Given the description of an element on the screen output the (x, y) to click on. 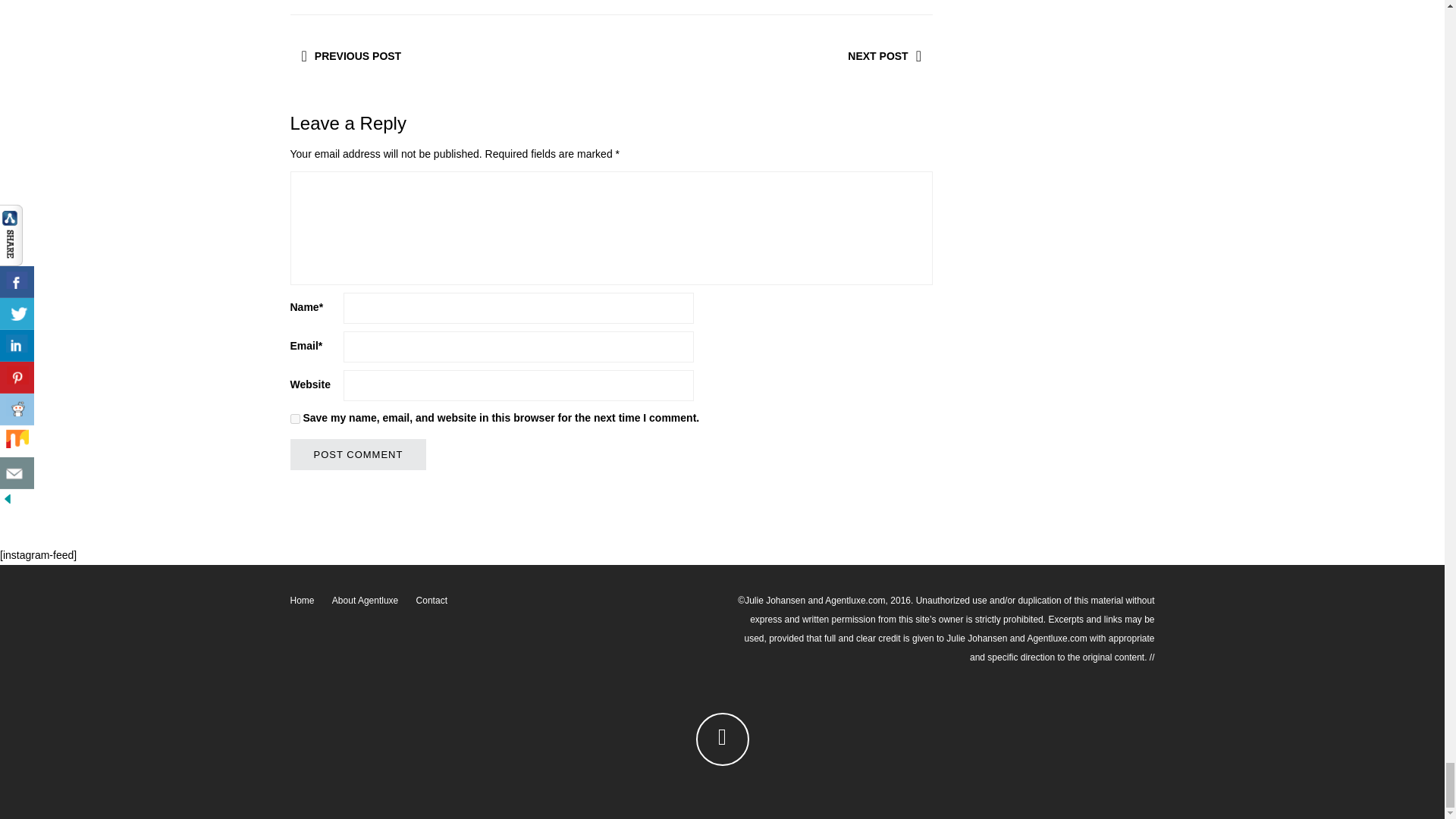
yes (294, 419)
Post comment (357, 454)
